Given the description of an element on the screen output the (x, y) to click on. 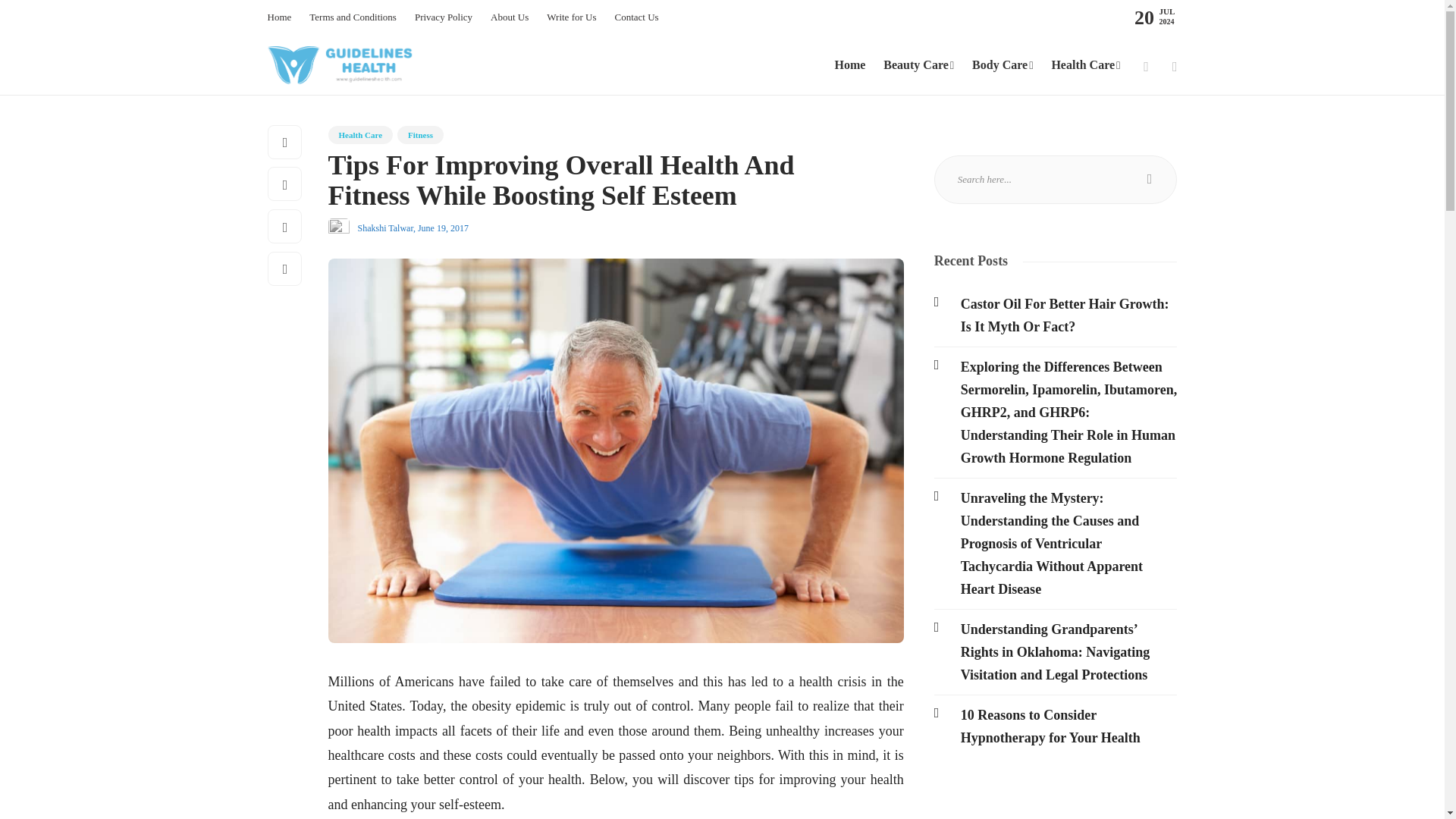
Privacy Policy (442, 17)
About Us (509, 17)
Write for Us (571, 17)
Terms and Conditions (352, 17)
Contact Us (636, 17)
Search text (1055, 179)
